Given the description of an element on the screen output the (x, y) to click on. 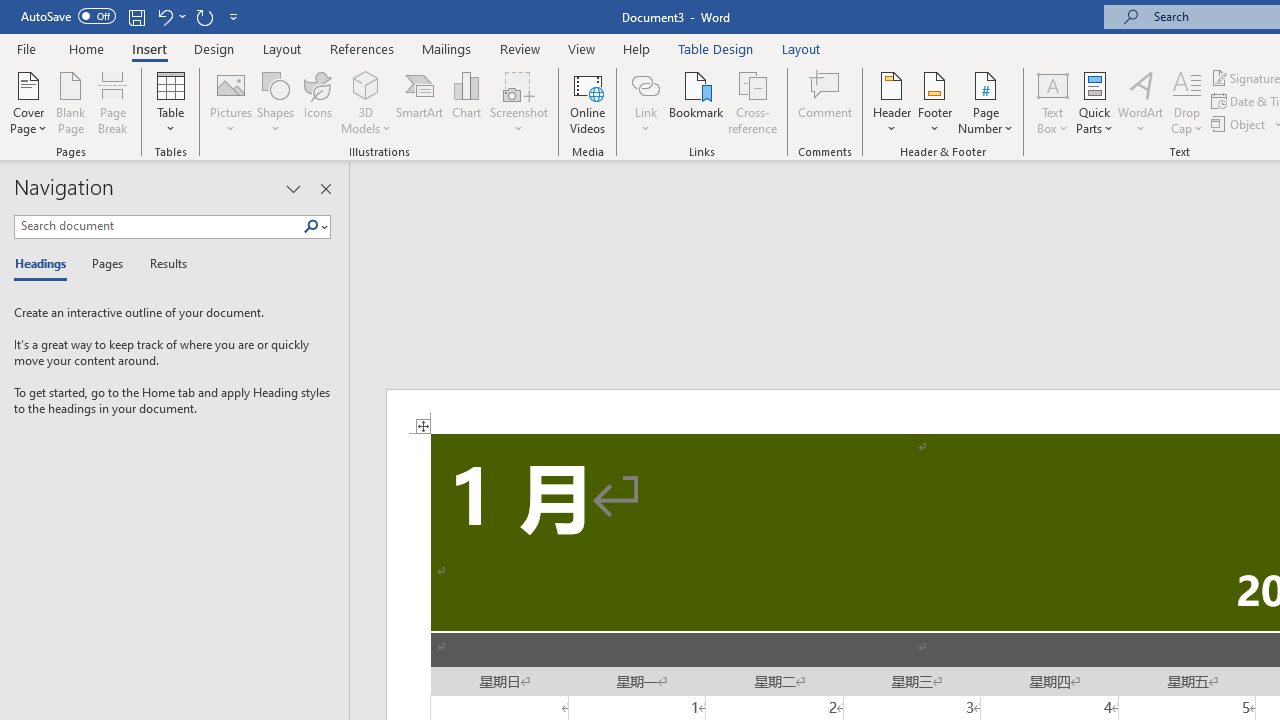
Cross-reference... (752, 102)
Shapes (275, 102)
SmartArt... (419, 102)
Undo Increase Indent (170, 15)
Results (161, 264)
Page Break (113, 102)
Object... (1240, 124)
Pages (105, 264)
